Given the description of an element on the screen output the (x, y) to click on. 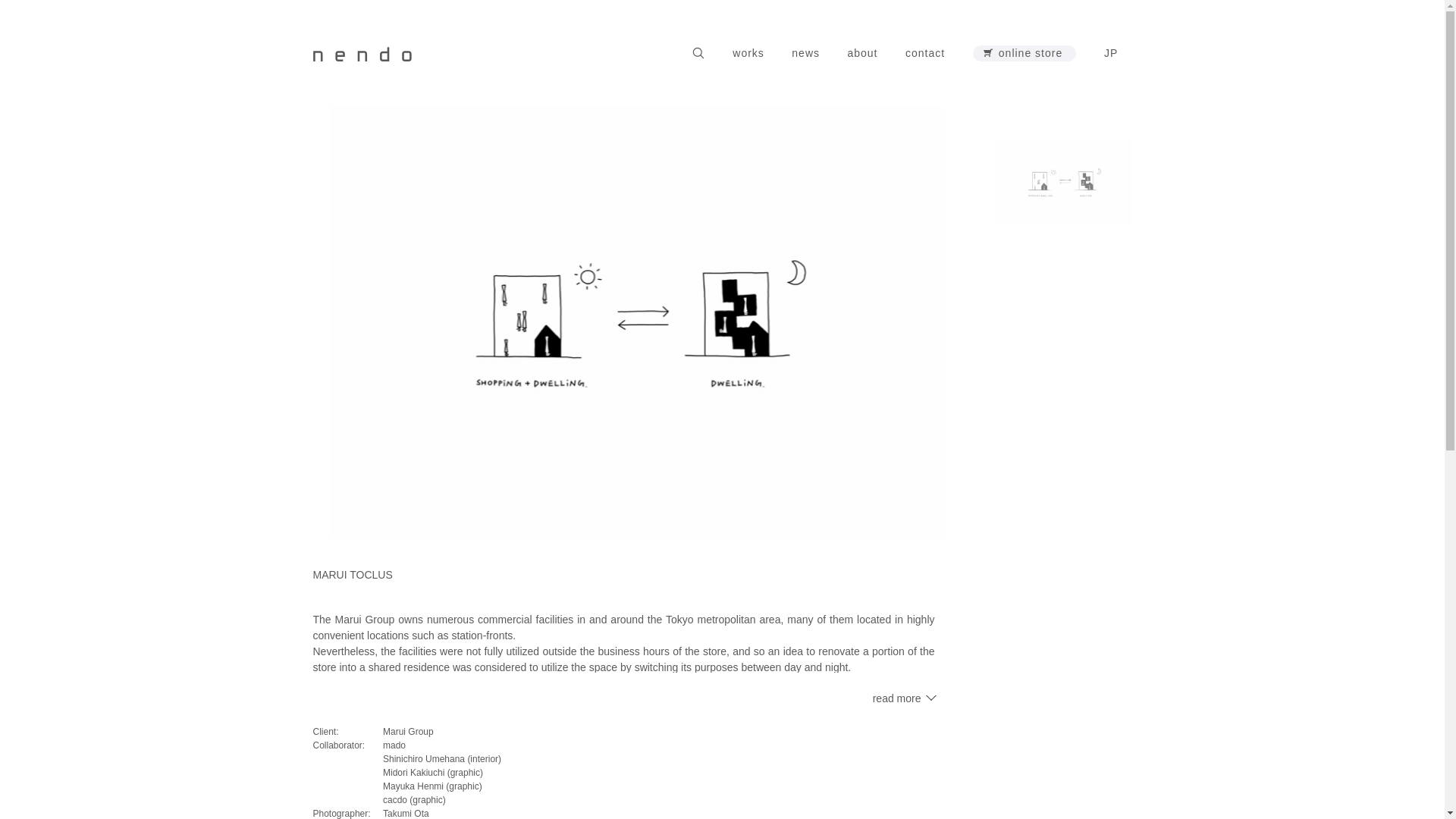
read more (903, 698)
about (861, 53)
online store (1024, 53)
works (748, 53)
news (804, 53)
nendo (361, 52)
JP (1111, 53)
contact (925, 53)
